Given the description of an element on the screen output the (x, y) to click on. 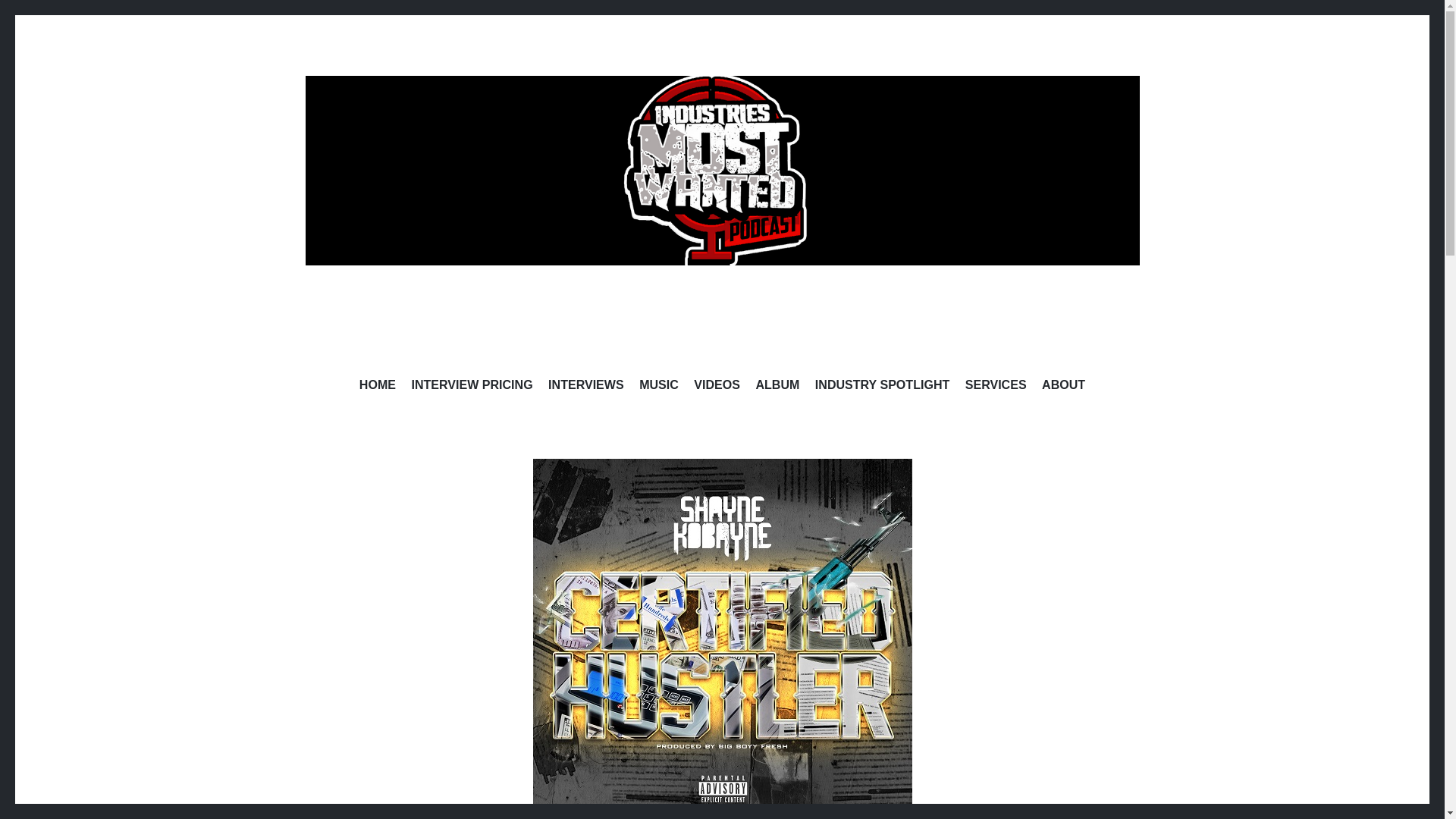
INTERVIEW PRICING (471, 387)
ABOUT (1063, 387)
VIDEOS (716, 387)
INDUSTRY SPOTLIGHT (882, 387)
HOME (377, 387)
ALBUM (777, 387)
MUSIC (658, 387)
INTERVIEWS (586, 387)
SERVICES (995, 387)
